Given the description of an element on the screen output the (x, y) to click on. 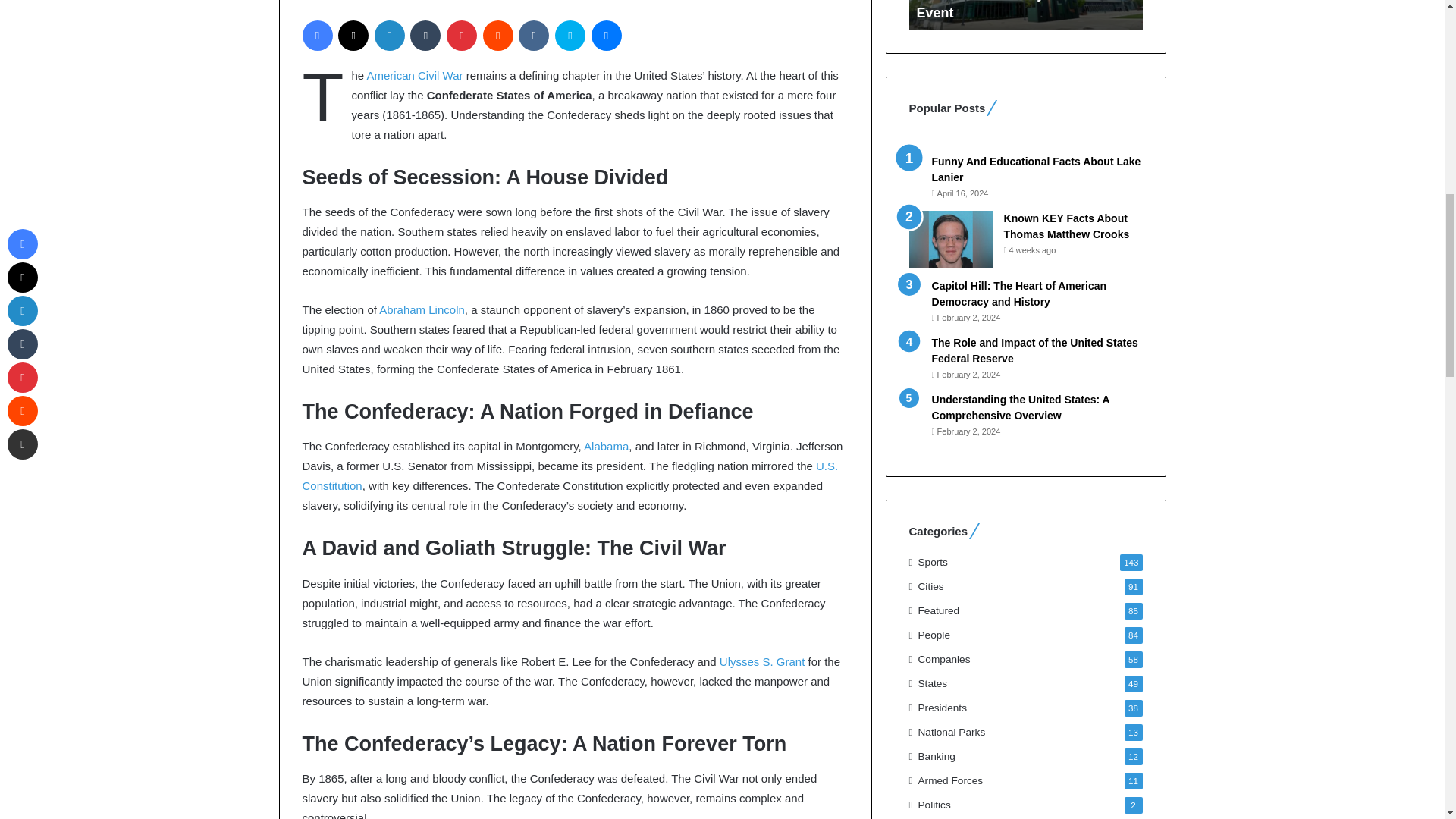
LinkedIn (389, 35)
Pinterest (461, 35)
Abraham Lincoln (421, 309)
X (352, 35)
Alabama (605, 445)
Skype (569, 35)
American Civil War (414, 74)
VKontakte (533, 35)
Reddit (498, 35)
Pinterest (461, 35)
